Given the description of an element on the screen output the (x, y) to click on. 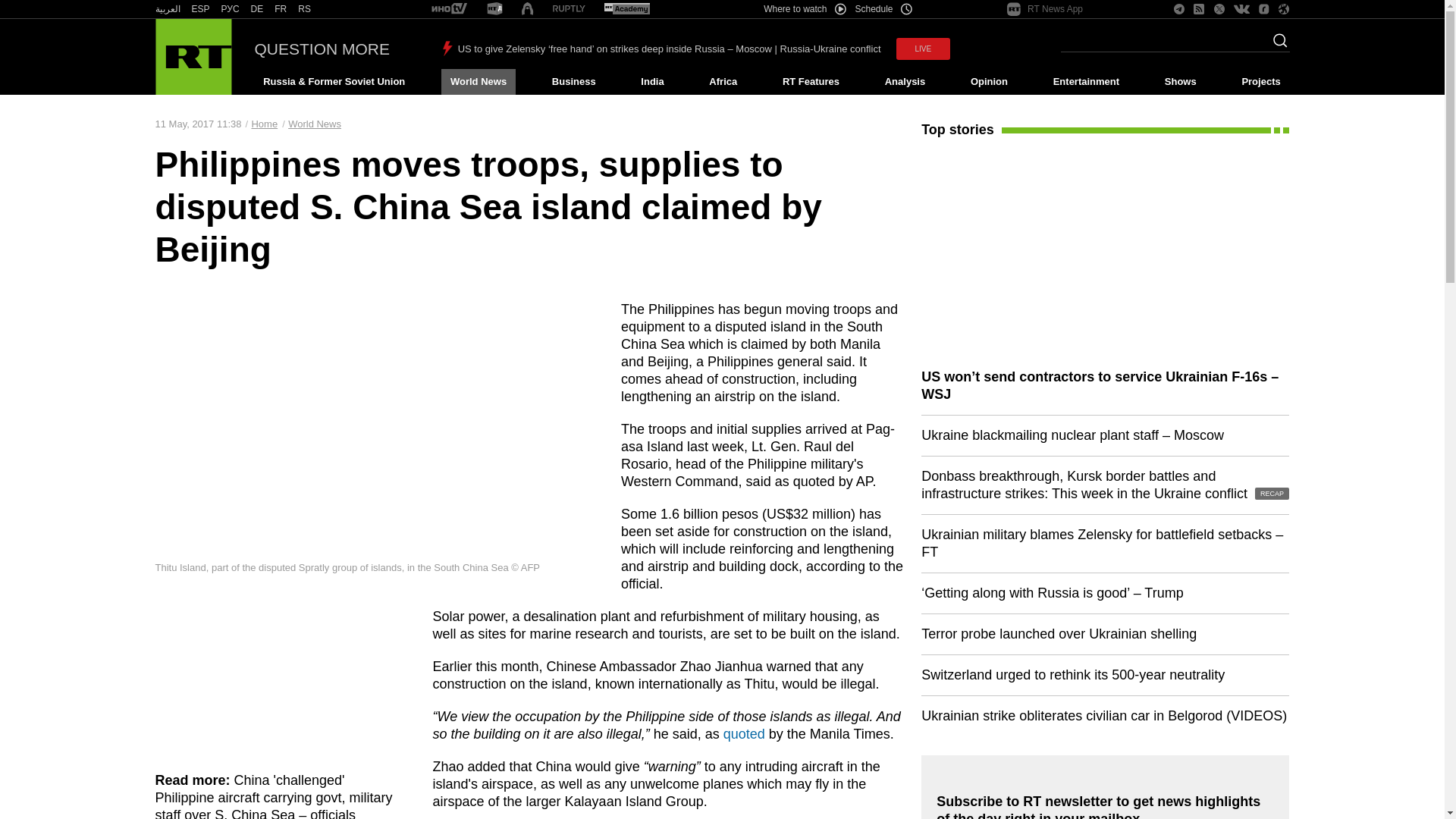
Projects (1261, 81)
DE (256, 9)
Search (1276, 44)
Search (1276, 44)
RT Features (810, 81)
RT  (494, 9)
Shows (1180, 81)
India (651, 81)
Analysis (905, 81)
Schedule (884, 9)
